Given the description of an element on the screen output the (x, y) to click on. 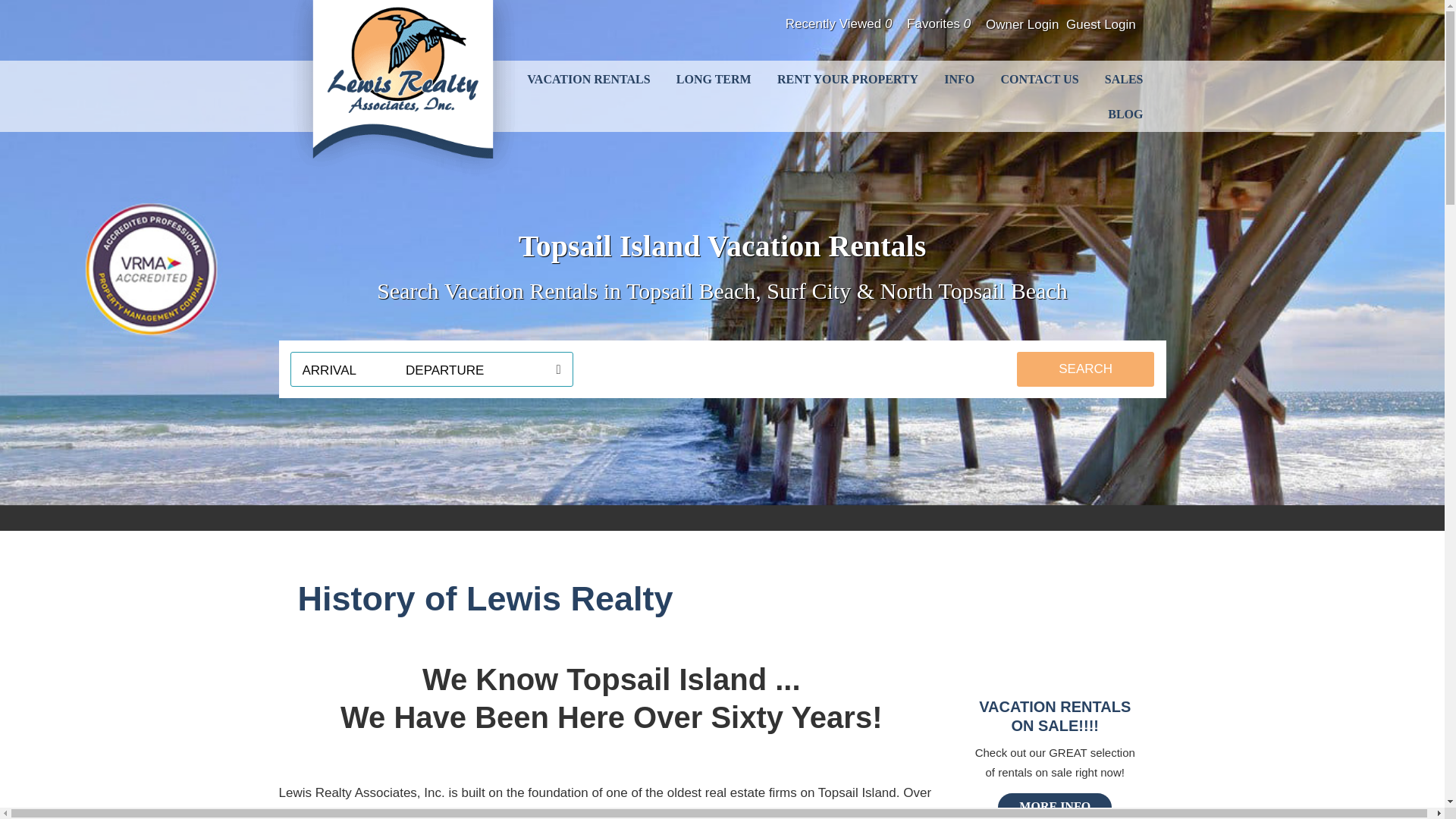
LONG TERM (713, 79)
Search (1085, 369)
Search (1085, 369)
CONTACT US (1040, 79)
SALES (1123, 79)
Owner Login (1021, 24)
Guest Login (1100, 24)
INFO (959, 79)
BLOG (1125, 114)
RENT YOUR PROPERTY (847, 79)
